Given the description of an element on the screen output the (x, y) to click on. 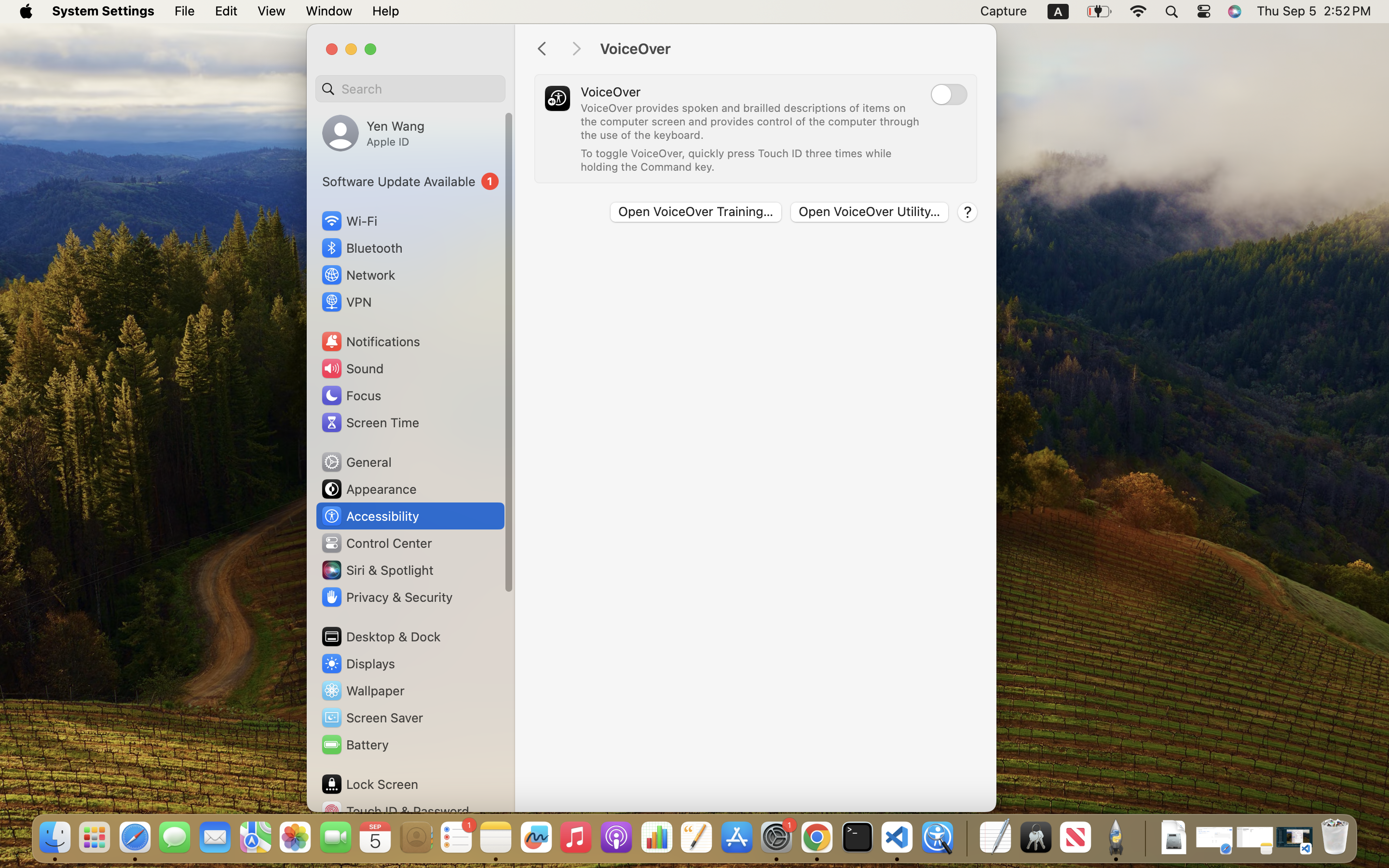
Appearance Element type: AXStaticText (368, 488)
Lock Screen Element type: AXStaticText (369, 783)
Battery Element type: AXStaticText (354, 744)
Desktop & Dock Element type: AXStaticText (380, 636)
